Given the description of an element on the screen output the (x, y) to click on. 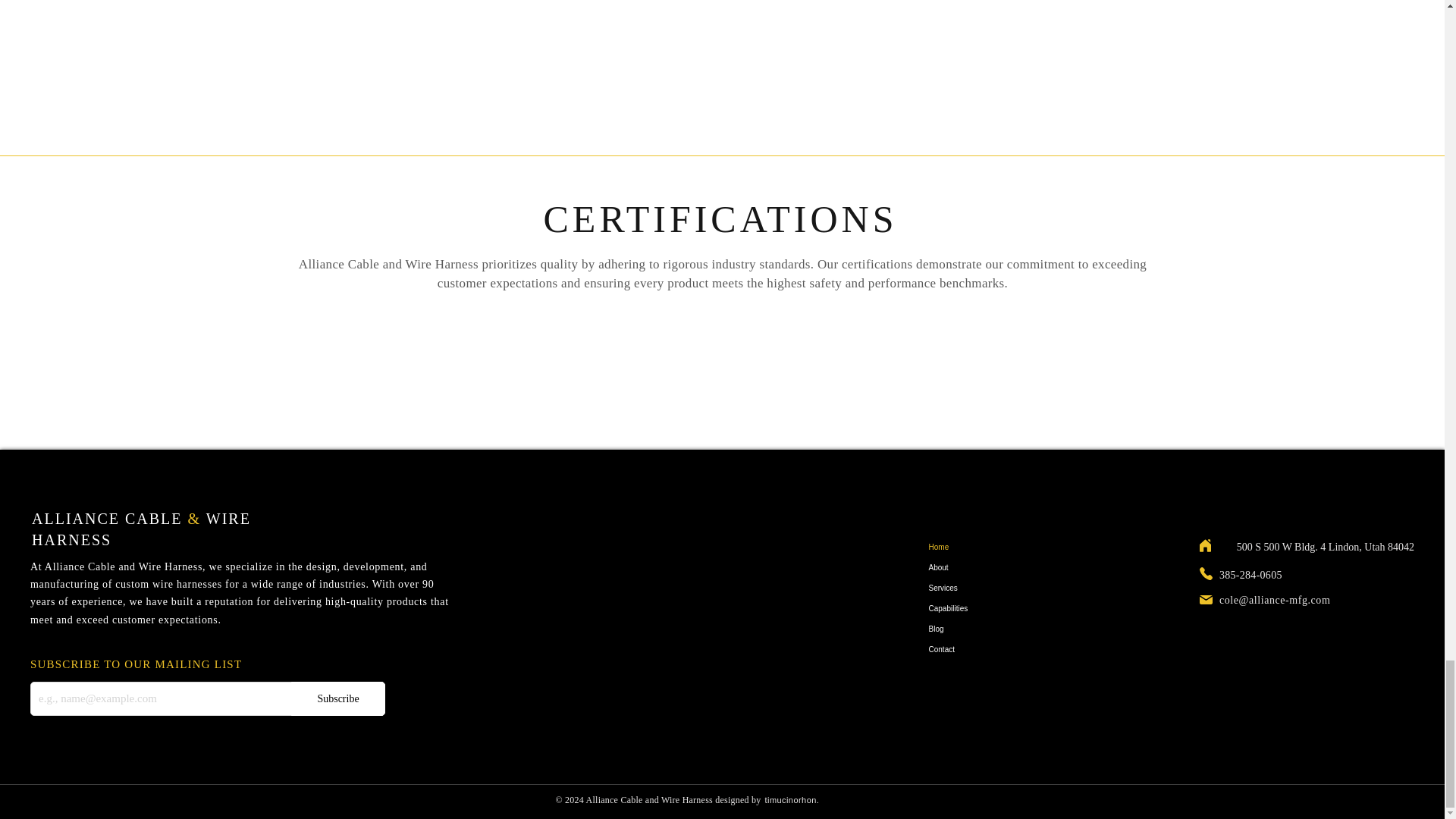
385-284-0605 (1251, 574)
Capabilities (981, 607)
About (981, 566)
Blog (981, 629)
timucinorhon. (791, 799)
Contact (981, 648)
Home (981, 547)
Subscribe (338, 698)
Services (981, 588)
